Given the description of an element on the screen output the (x, y) to click on. 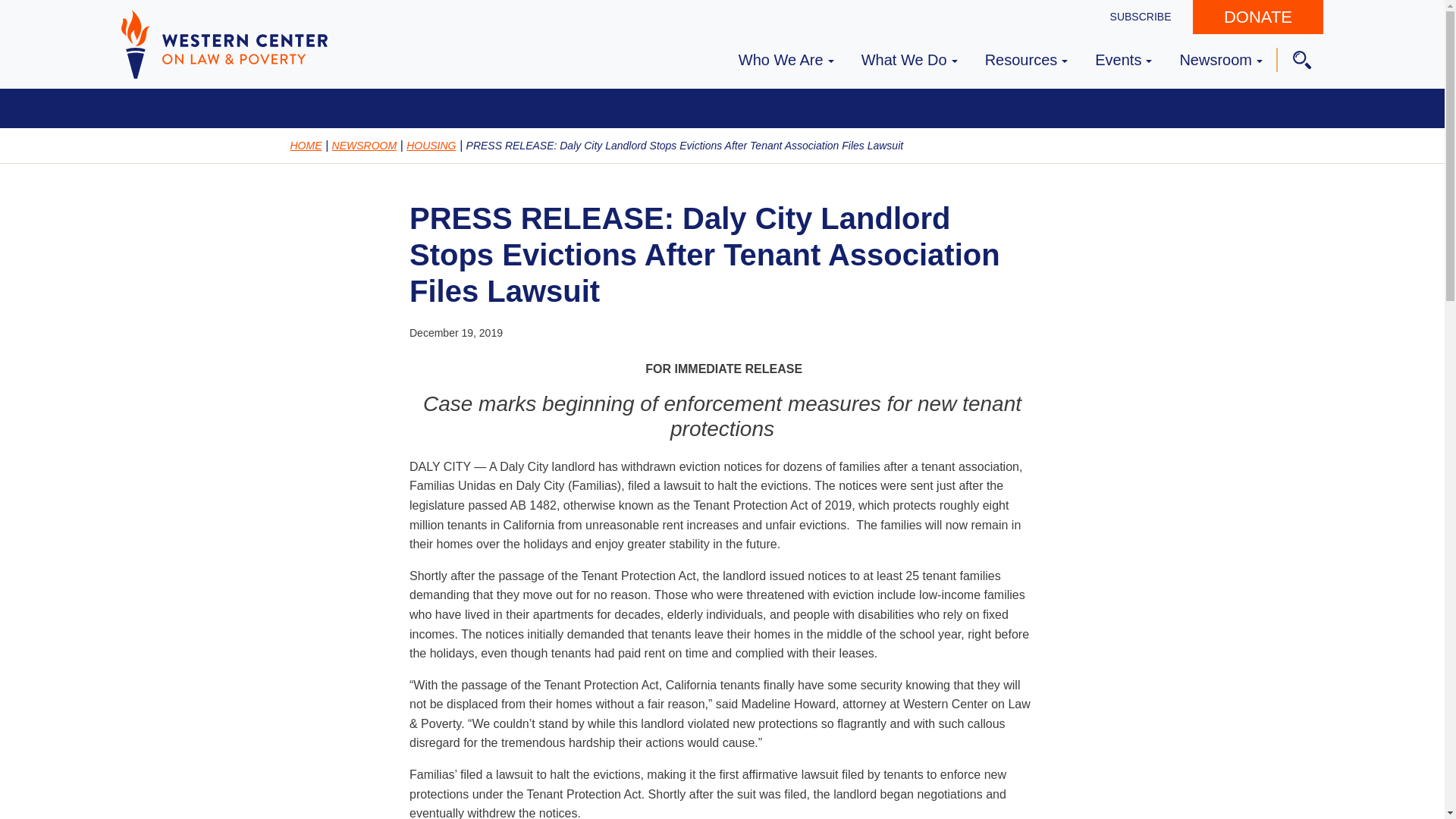
DONATE (1257, 17)
Who We Are (786, 58)
Who We Are (786, 58)
SUBSCRIBE (1140, 16)
Events (1123, 58)
Resources (1026, 58)
What We Do (909, 58)
Search (25, 12)
What We Do (909, 58)
Newsroom (1220, 58)
